Given the description of an element on the screen output the (x, y) to click on. 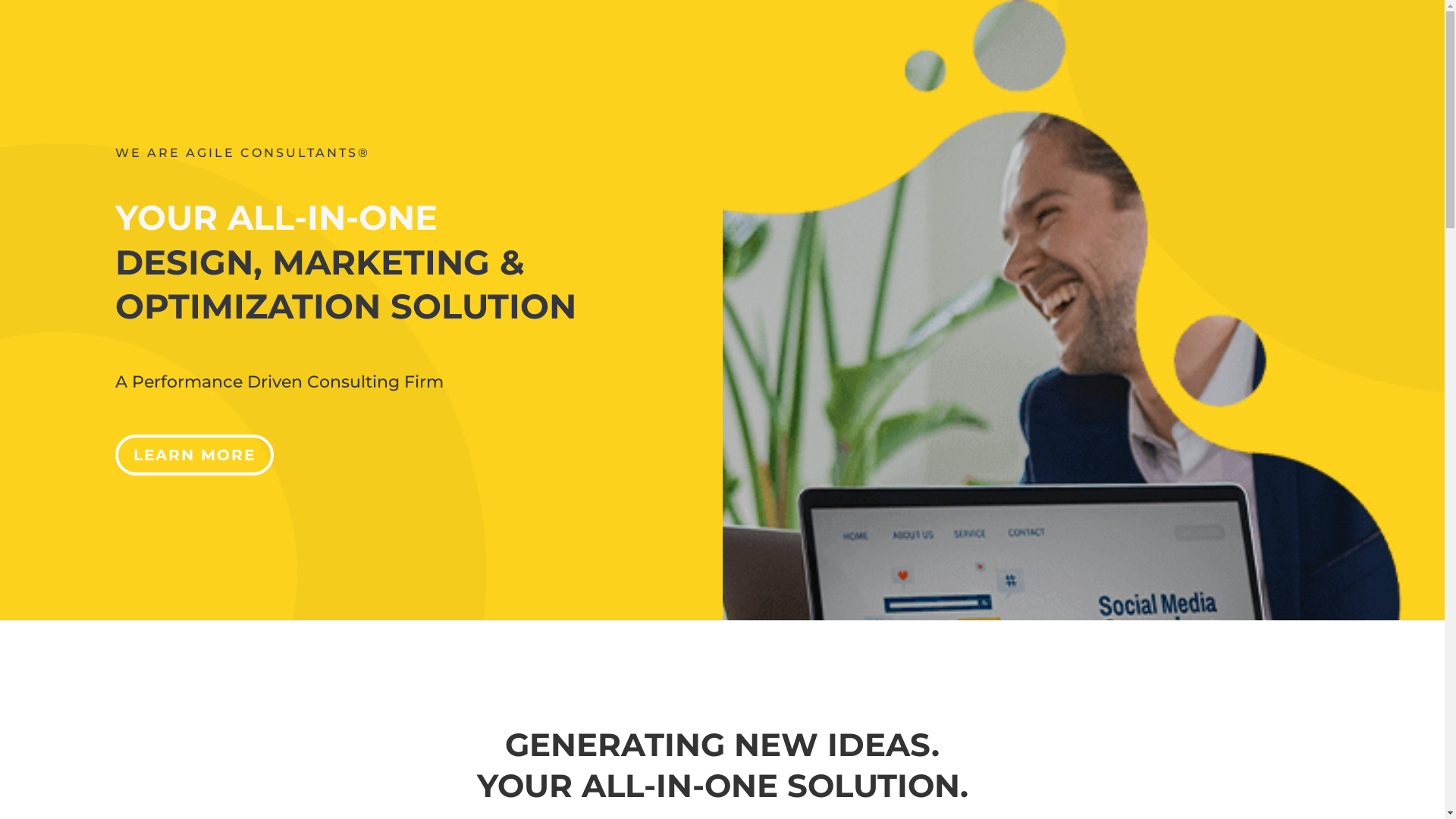
LEARN MORE Element type: text (194, 454)
